Given the description of an element on the screen output the (x, y) to click on. 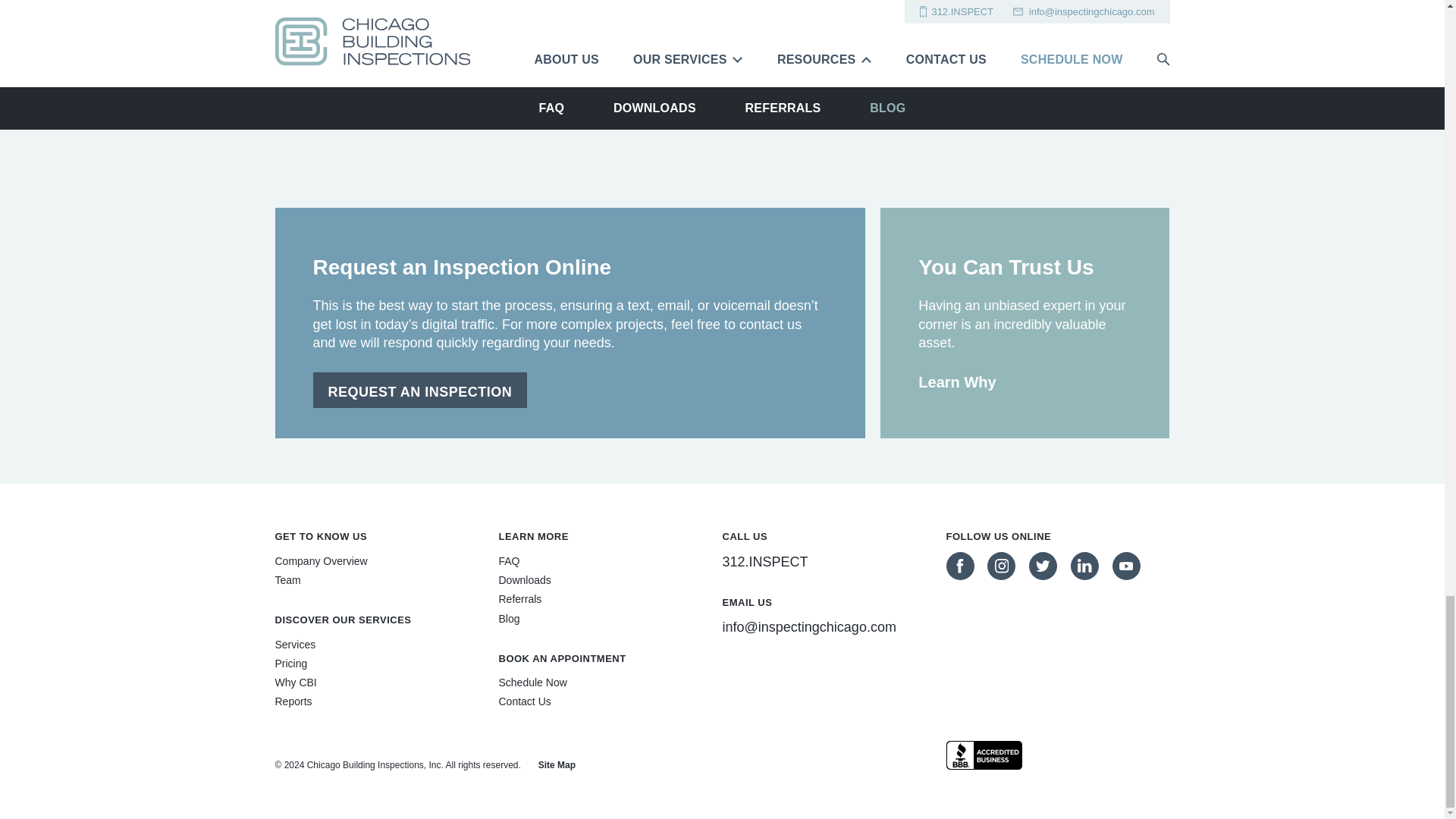
Contact Us (525, 701)
grid Created with Sketch. (478, 78)
Blog (509, 618)
Company Overview (320, 561)
Team (287, 579)
FAQ (509, 561)
Pricing (291, 663)
arrow Created with Sketch. (969, 81)
REQUEST AN INSPECTION (420, 389)
arrow Created with Sketch. (969, 80)
